Given the description of an element on the screen output the (x, y) to click on. 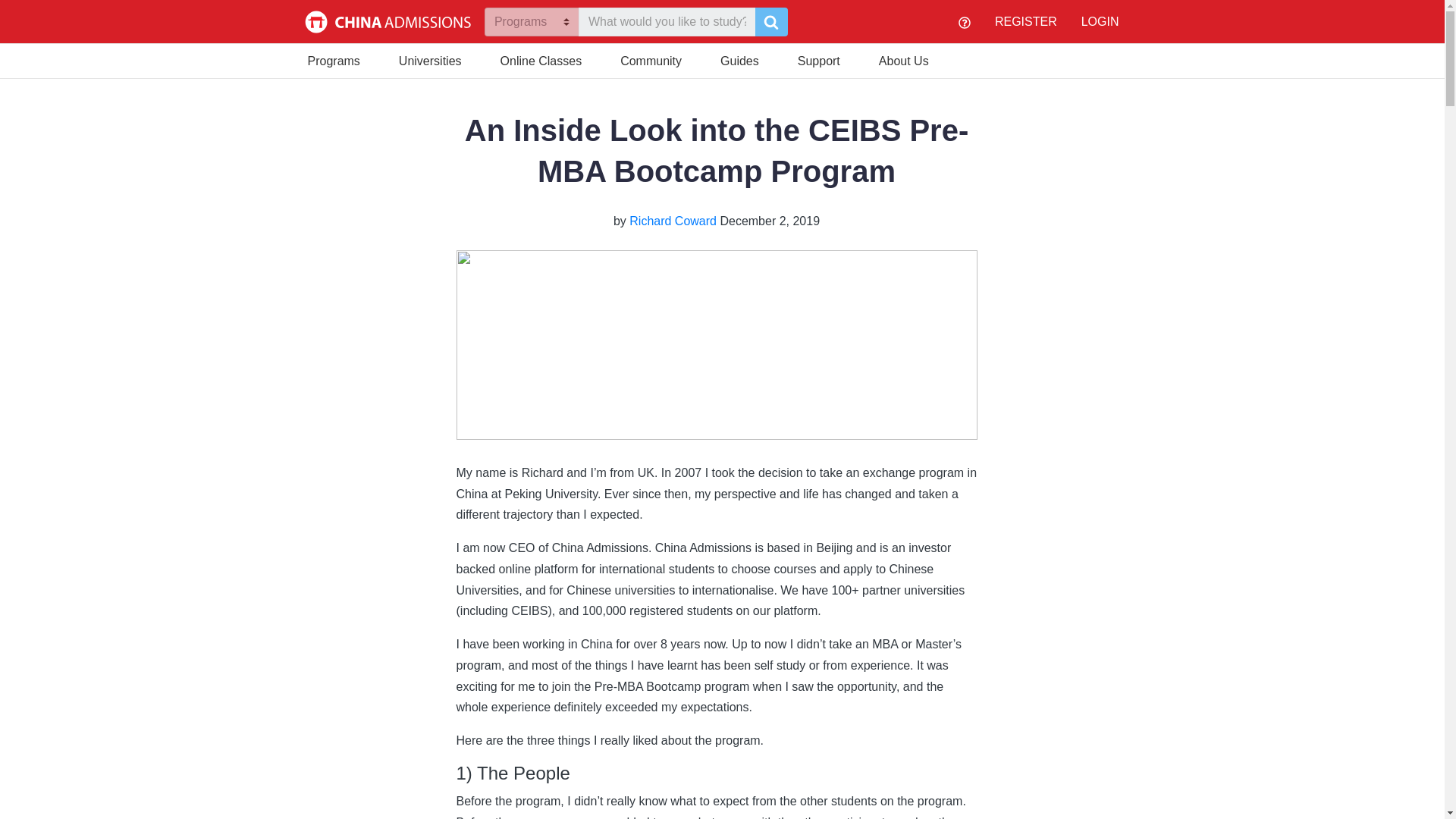
Programs (333, 59)
LOGIN (1100, 20)
REGISTER (1025, 20)
